Given the description of an element on the screen output the (x, y) to click on. 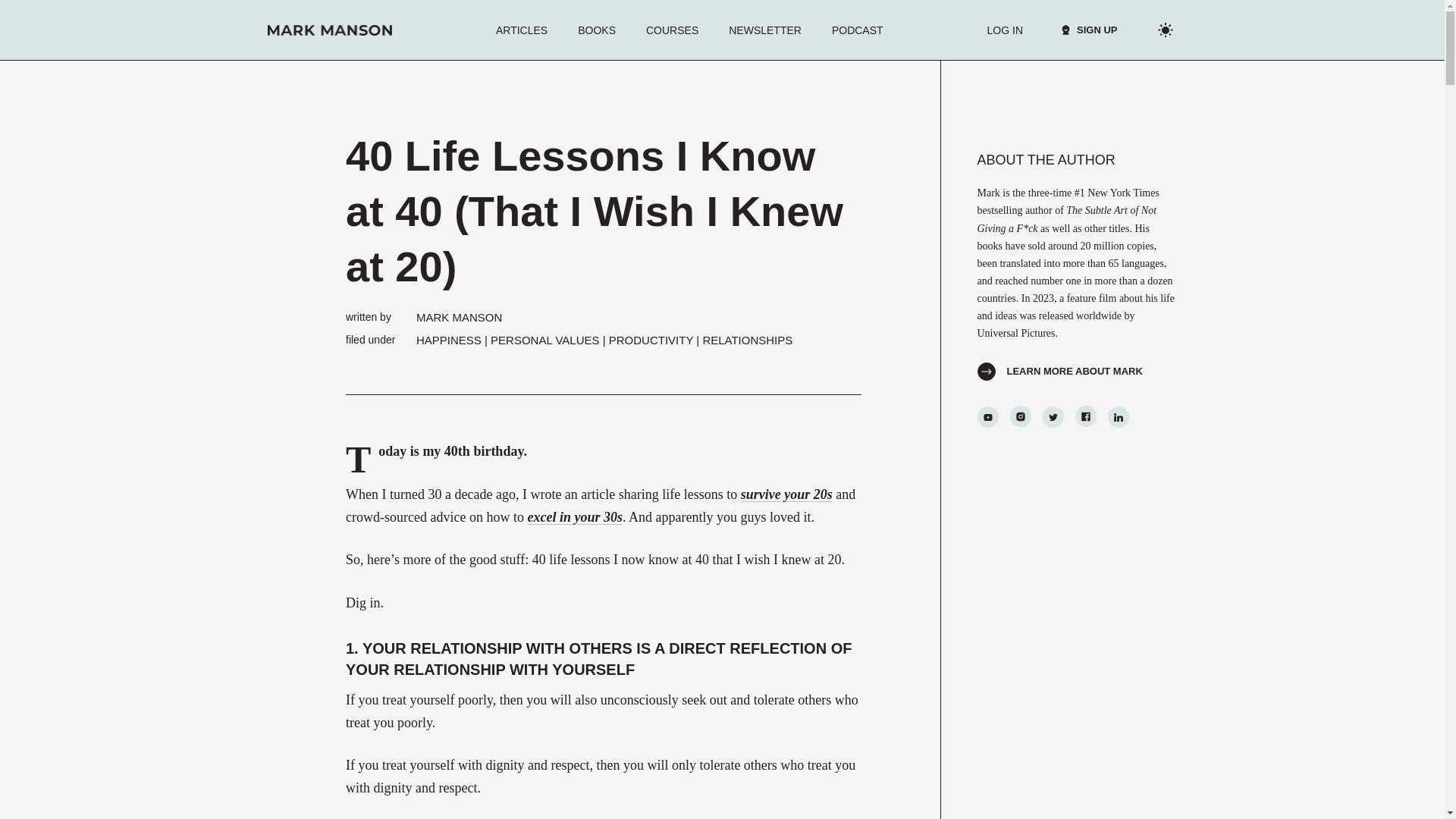
PRODUCTIVITY (650, 339)
COURSES (671, 30)
MARK MANSON (459, 317)
PERSONAL VALUES (544, 339)
RELATIONSHIPS (746, 339)
survive your 20s (786, 494)
SIGN UP (1089, 30)
BOOKS (596, 30)
SIGN UP (1081, 30)
LOG IN (1005, 30)
